Given the description of an element on the screen output the (x, y) to click on. 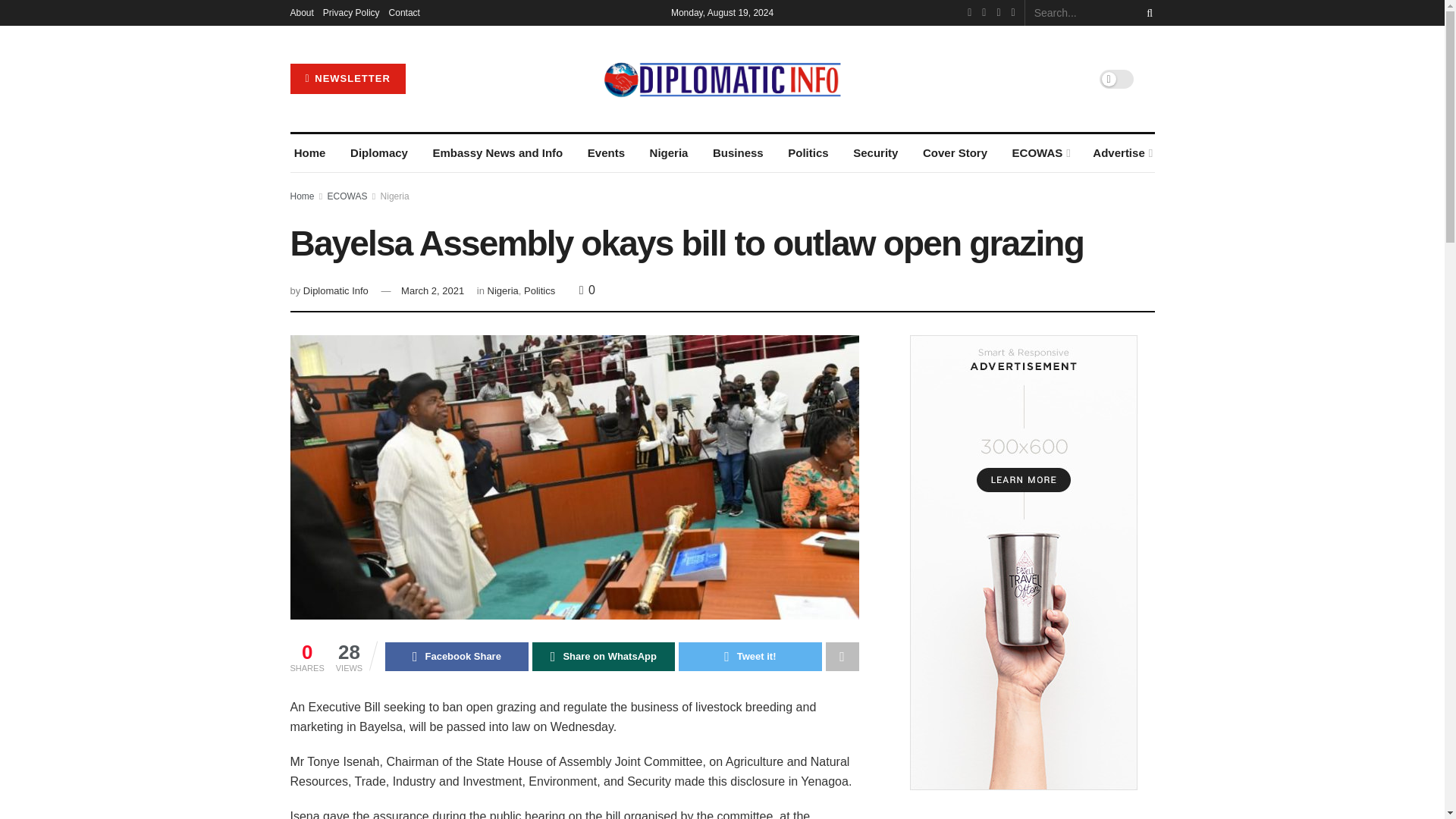
Nigeria (668, 152)
NEWSLETTER (346, 78)
Politics (808, 152)
Diplomacy (379, 152)
Contact (404, 12)
Embassy News and Info (497, 152)
ECOWAS (1039, 152)
Home (309, 152)
Events (605, 152)
Security (875, 152)
